Given the description of an element on the screen output the (x, y) to click on. 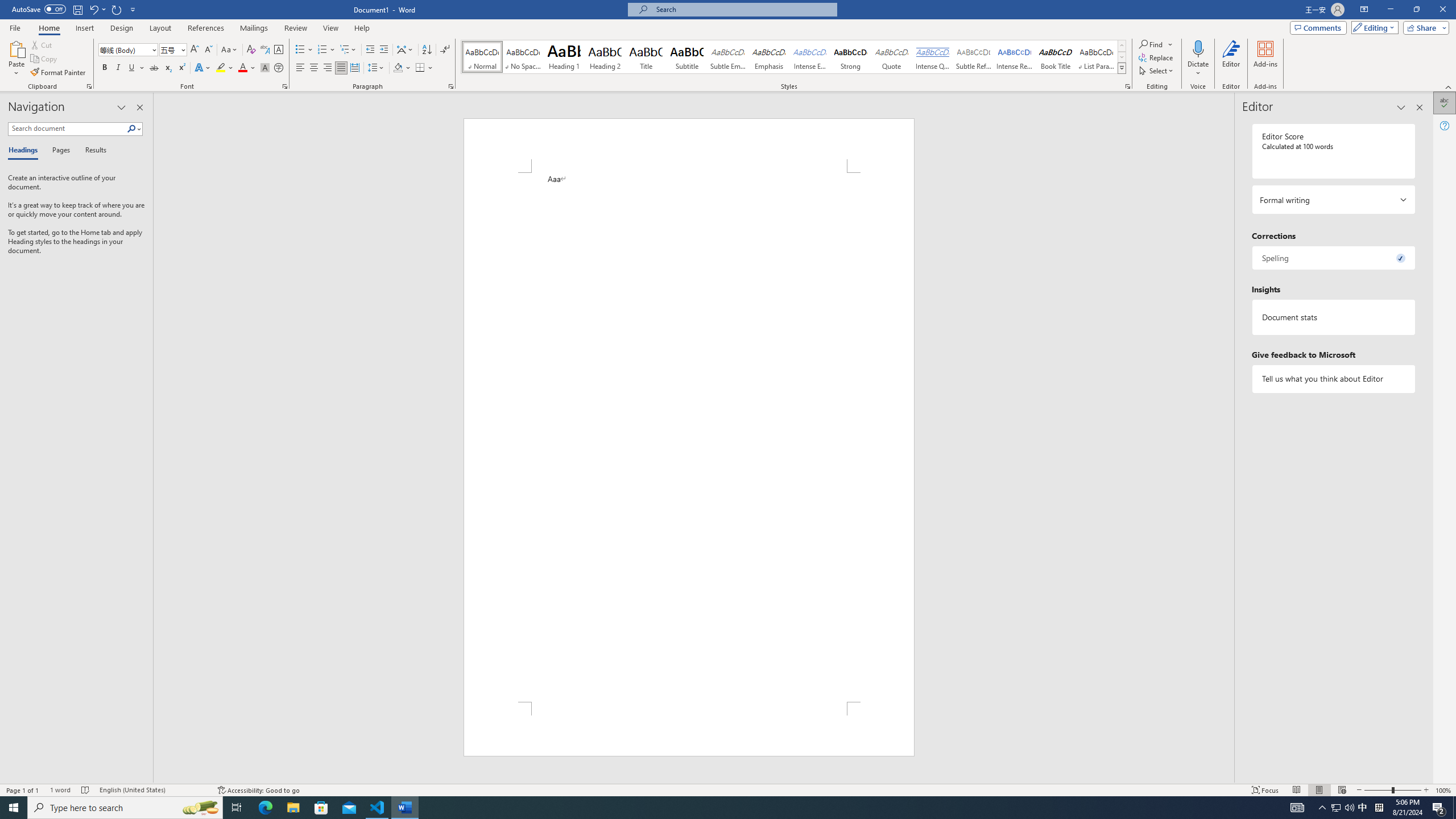
Language English (United States) (152, 790)
Font... (285, 85)
Office Clipboard... (88, 85)
Replace... (1156, 56)
Subtitle (686, 56)
Page 1 content (688, 436)
Phonetic Guide... (264, 49)
Pages (59, 150)
Row up (1121, 45)
Repeat Increase Indent (117, 9)
